Given the description of an element on the screen output the (x, y) to click on. 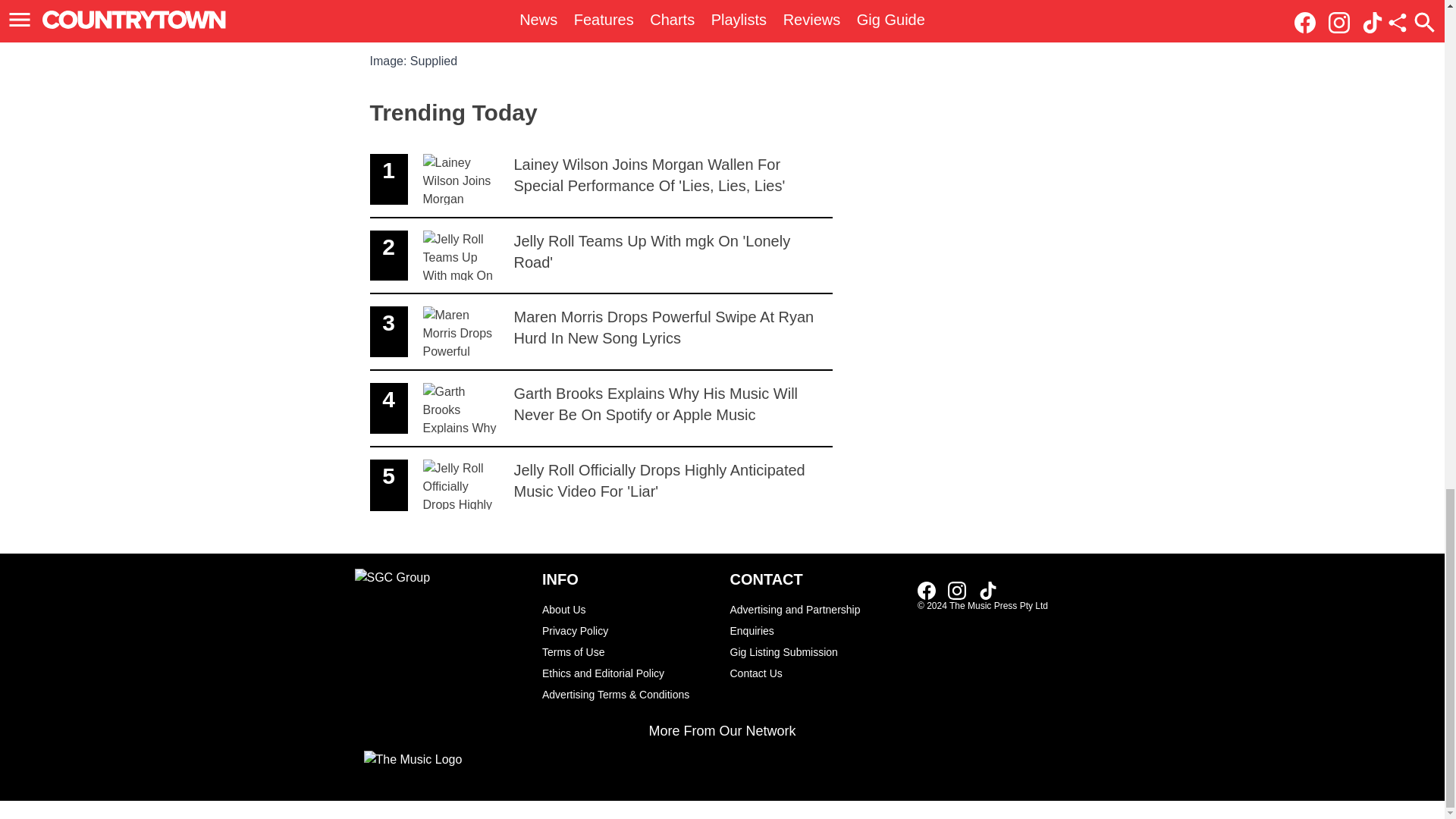
Privacy Policy (627, 630)
Link to our Instagram (961, 589)
here (676, 27)
Link to our Facebook (926, 590)
Terms of Use (627, 651)
Contact Us (815, 672)
Gig Listing Submission (815, 651)
Link to our Facebook (930, 589)
About Us (627, 608)
Link to our TikTok (987, 590)
Link to our Instagram (600, 256)
